Given the description of an element on the screen output the (x, y) to click on. 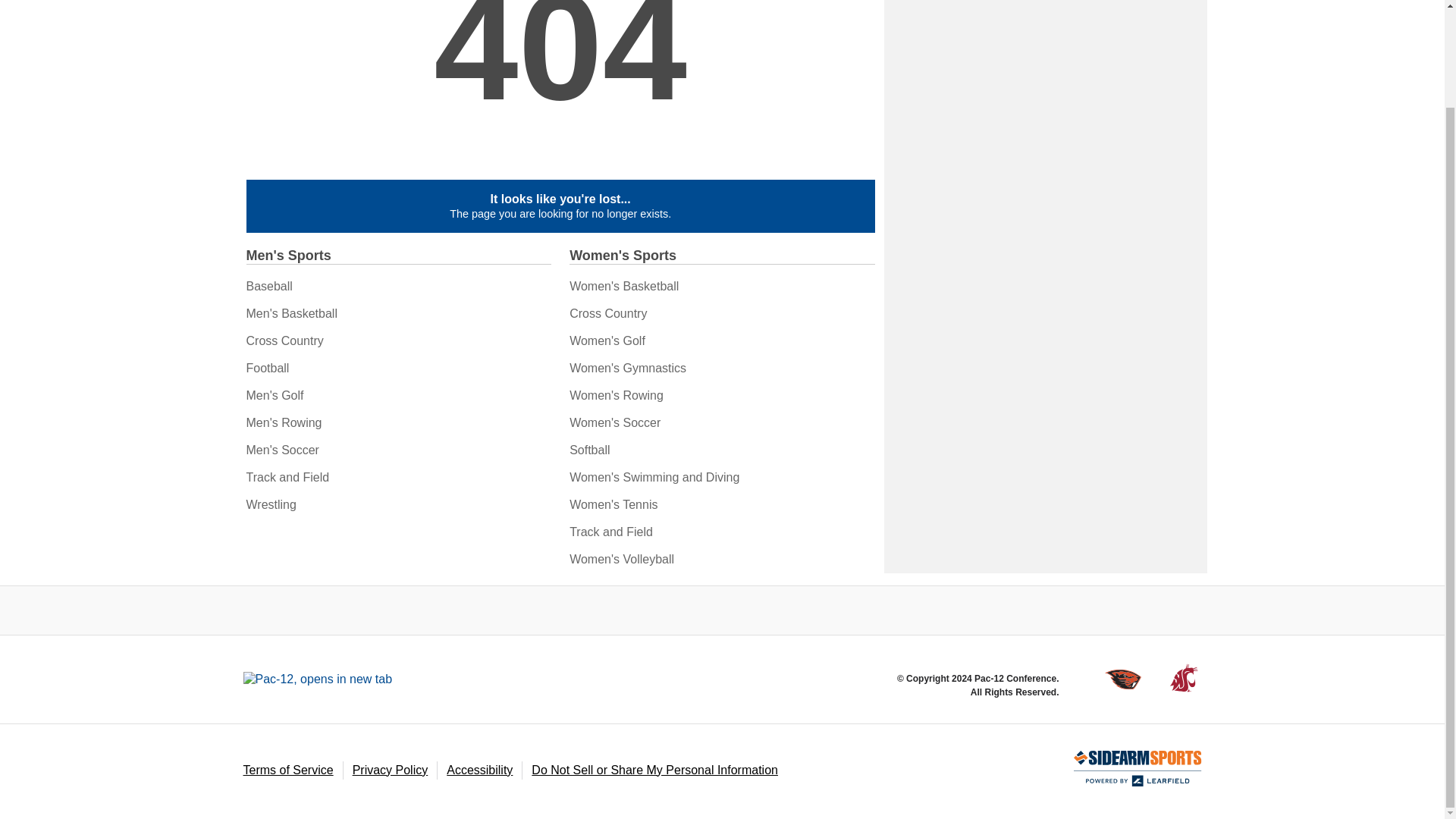
Cross Country (284, 340)
Men's Rowing (283, 422)
Men's Basketball (291, 313)
Sidearm Sports, opens in new window (1137, 769)
Football (267, 367)
Baseball (269, 286)
Track and Field (287, 477)
Men's Soccer (282, 449)
Men's Golf (274, 395)
